Given the description of an element on the screen output the (x, y) to click on. 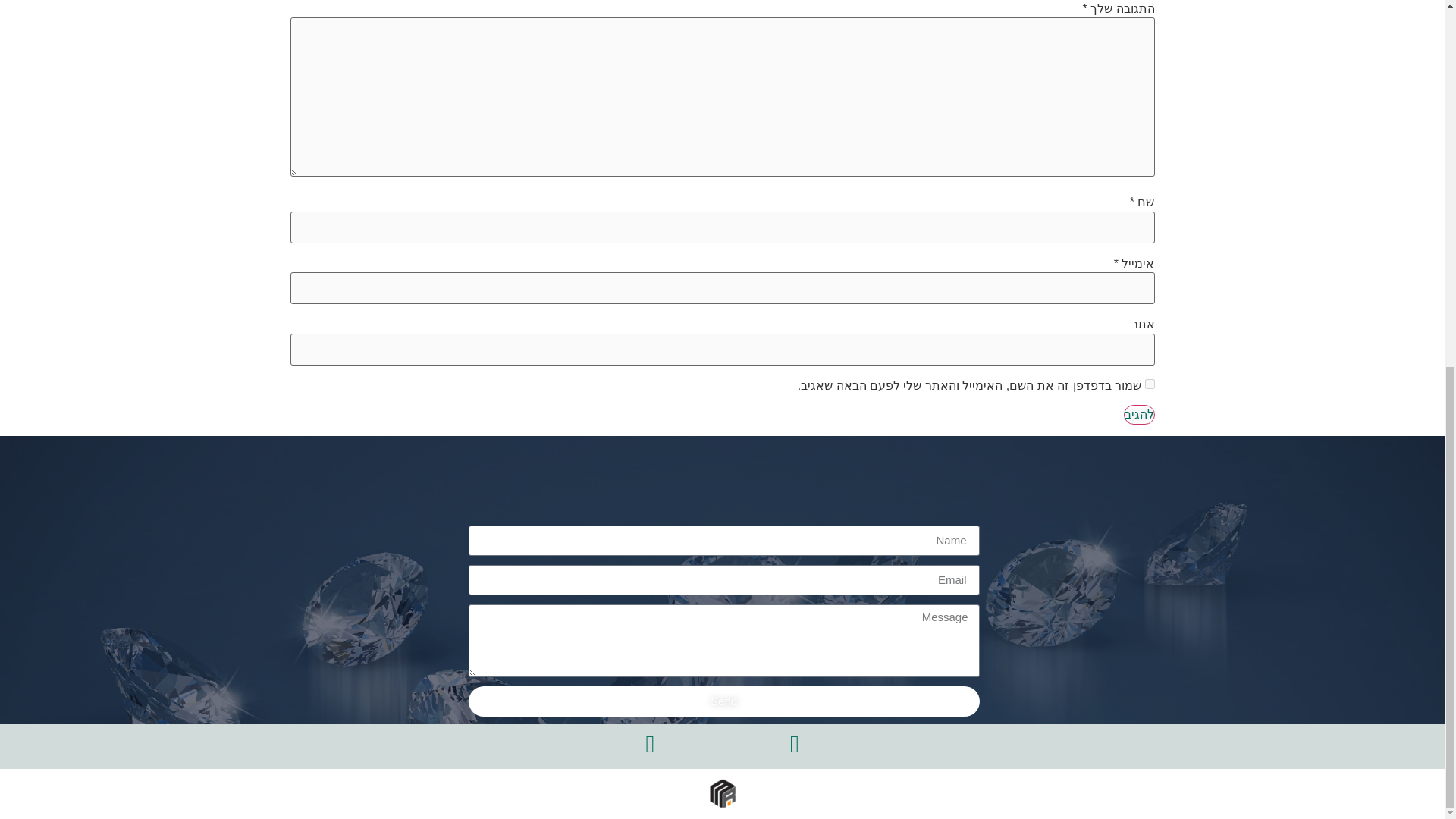
logo (721, 793)
Send (723, 701)
yes (1149, 384)
